Given the description of an element on the screen output the (x, y) to click on. 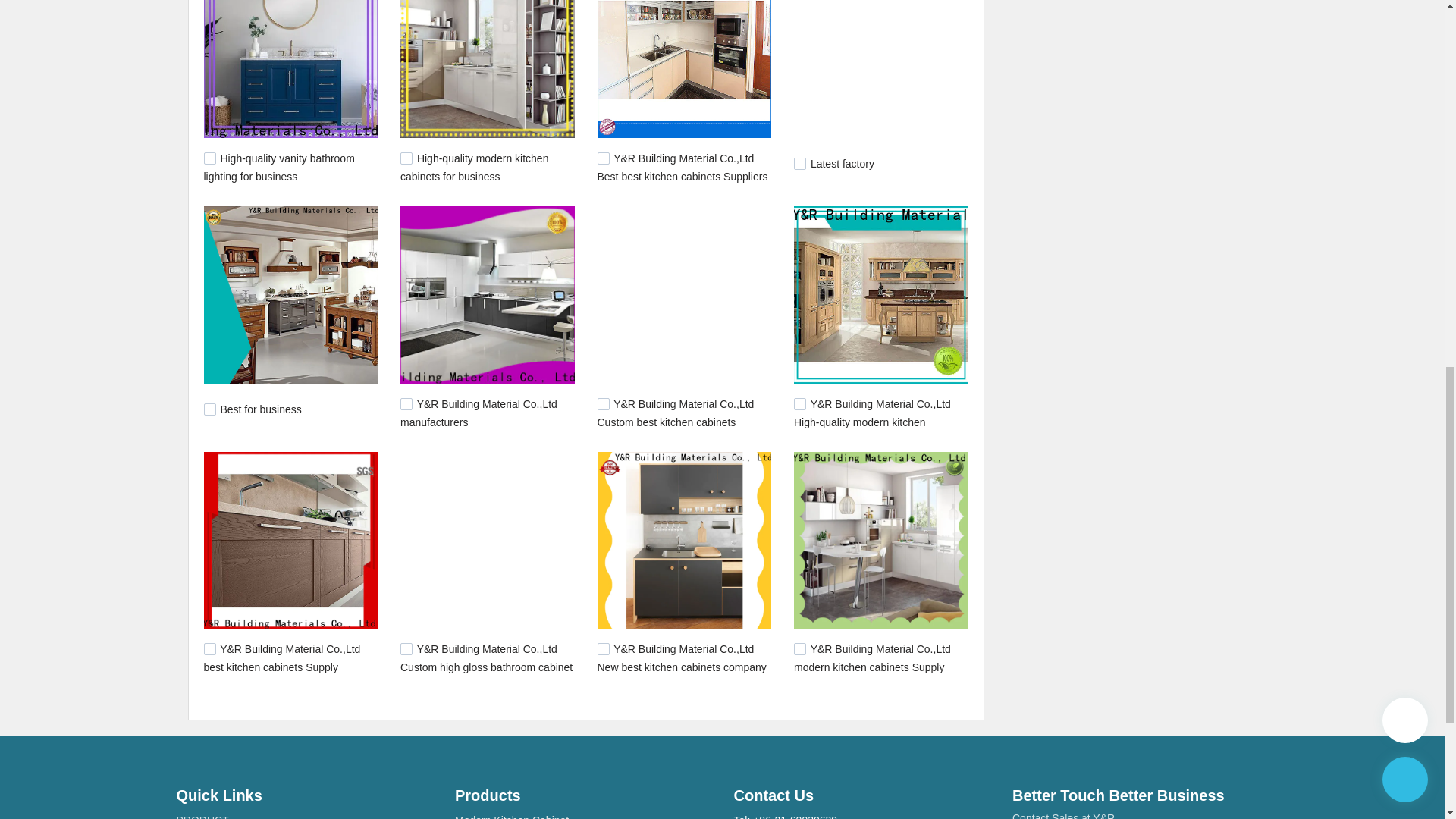
4440 (603, 158)
4285 (209, 648)
4315 (603, 404)
4320 (406, 404)
4254 (603, 648)
High-quality modern kitchen cabinets for business (474, 167)
4266 (406, 648)
Best for business (260, 409)
High-quality vanity bathroom lighting for business (278, 167)
4409 (799, 163)
